Given the description of an element on the screen output the (x, y) to click on. 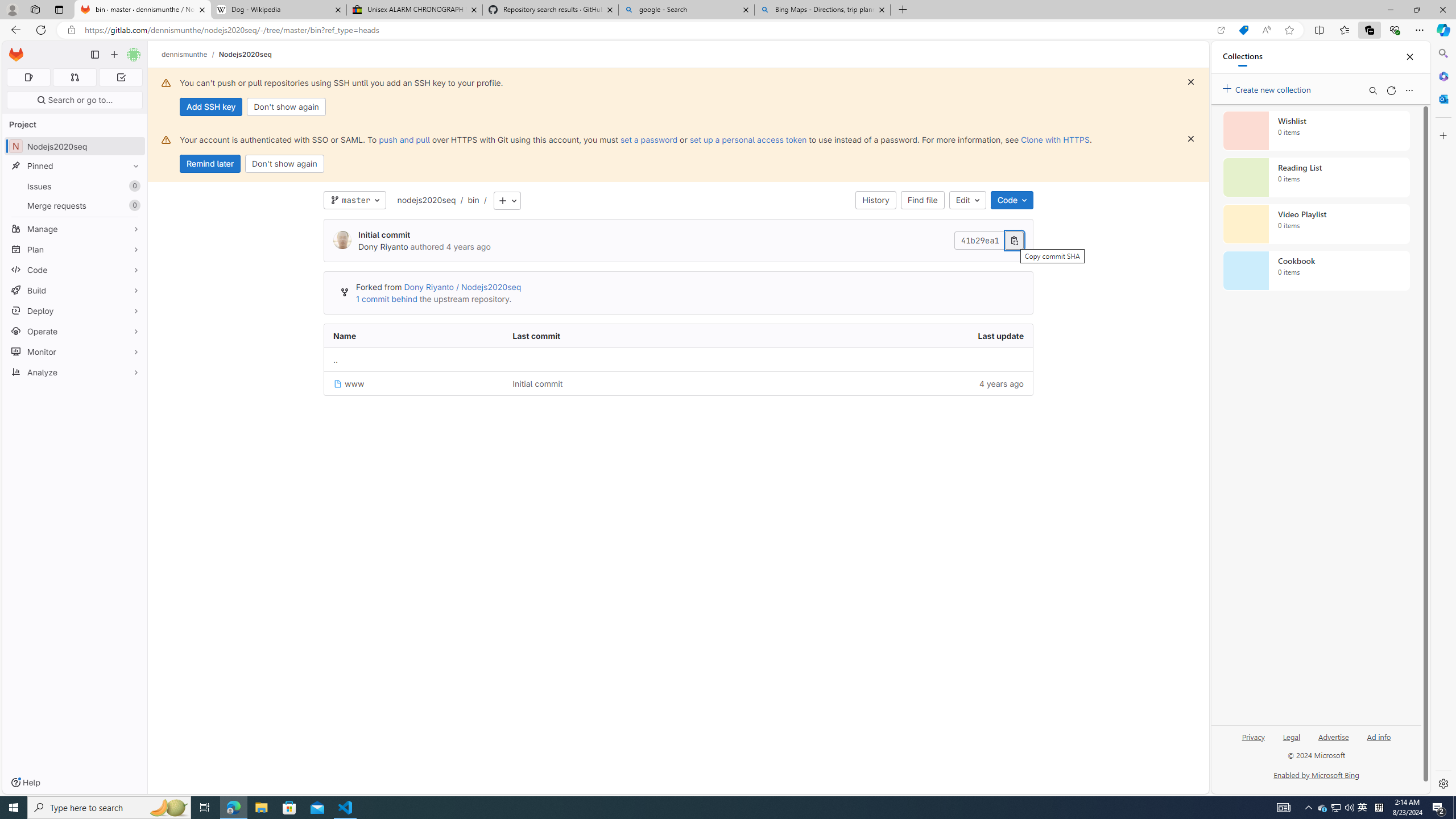
Ad info (1378, 736)
Assigned issues 0 (28, 76)
Operate (74, 330)
Code (74, 269)
Go to parent (335, 359)
N Nodejs2020seq (74, 145)
Manage (74, 228)
